Given the description of an element on the screen output the (x, y) to click on. 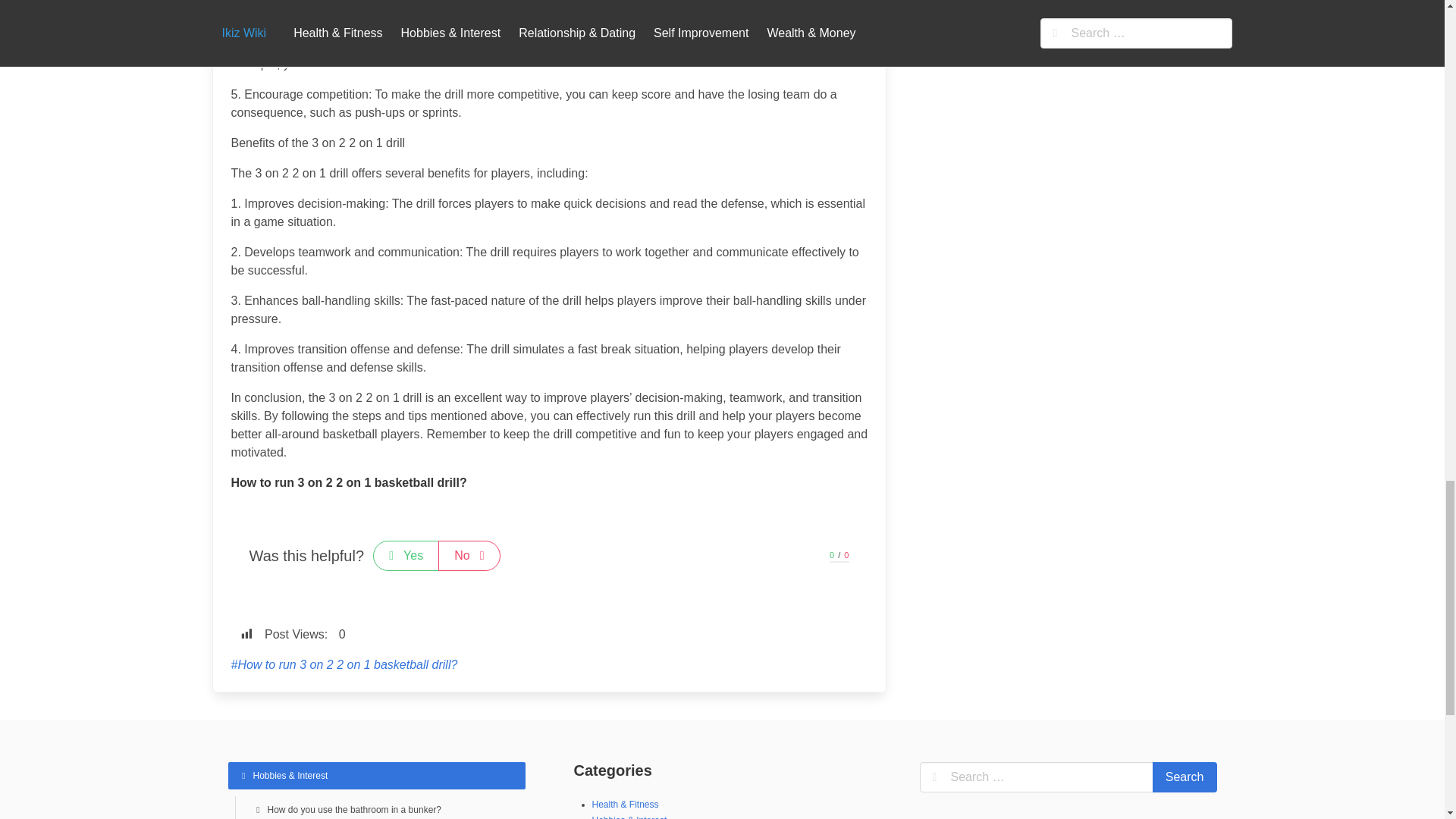
No (468, 555)
Search (1185, 777)
Yes (405, 555)
